Given the description of an element on the screen output the (x, y) to click on. 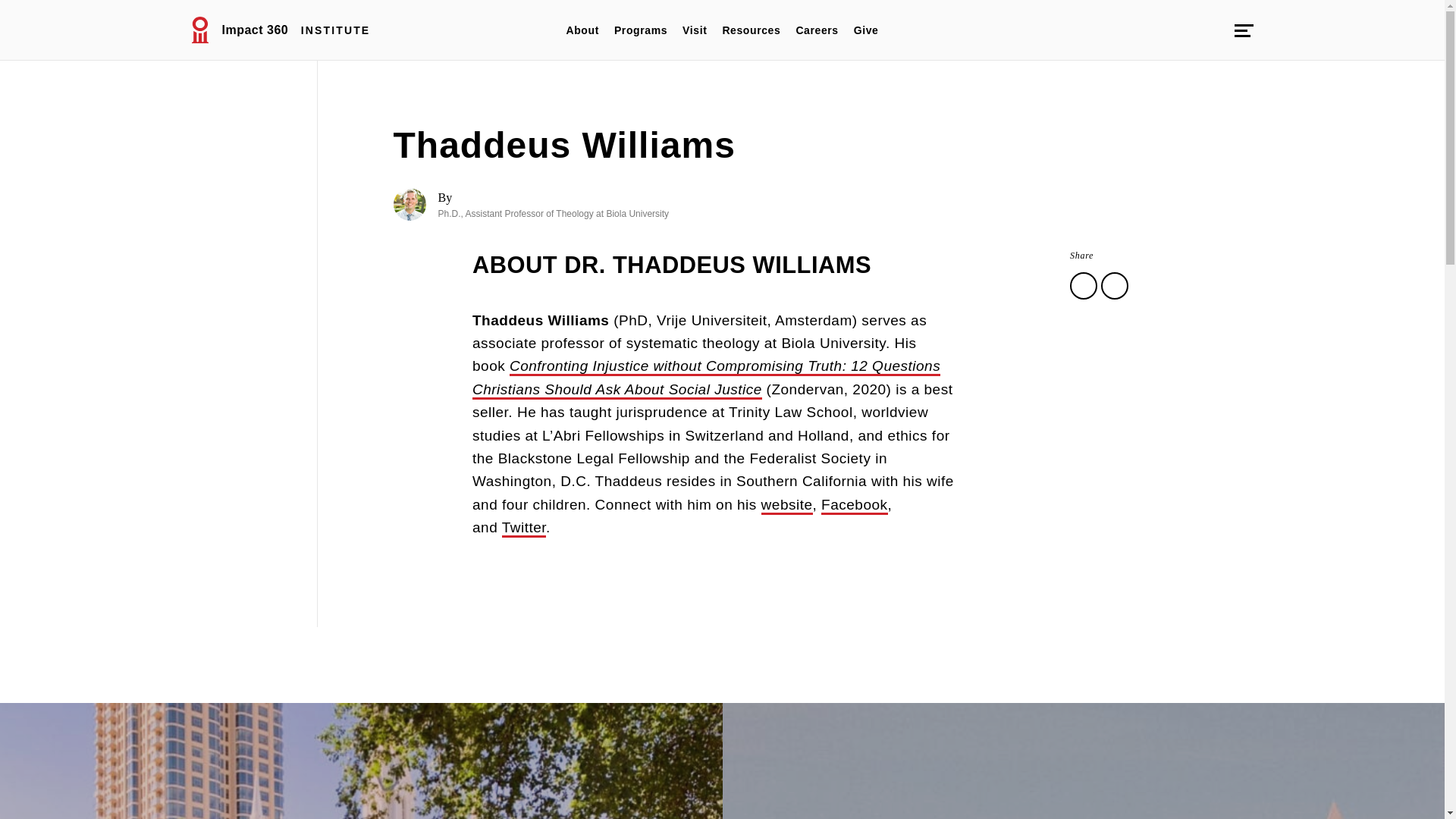
Resources (750, 30)
Careers (816, 30)
Twitter (524, 528)
website (786, 505)
Impact 360 INSTITUTE (279, 30)
Programs (641, 30)
Impact 360 Institute (279, 30)
Facebook (853, 505)
